Given the description of an element on the screen output the (x, y) to click on. 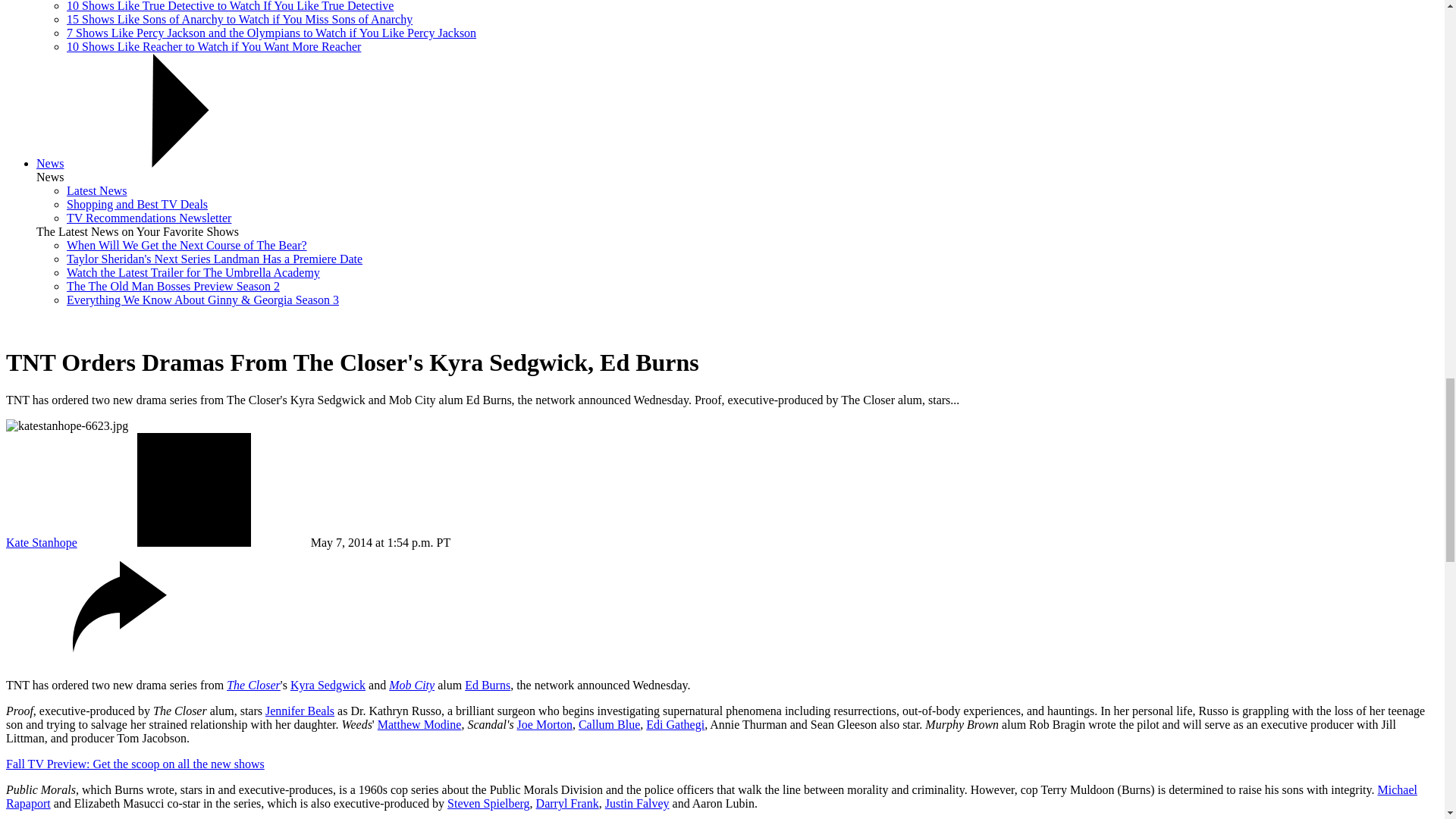
Shopping and Best TV Deals (137, 204)
10 Shows Like Reacher to Watch if You Want More Reacher (213, 46)
News (50, 163)
When Will We Get the Next Course of The Bear? (186, 245)
TV Recommendations Newsletter (148, 217)
Latest News (97, 190)
